Given the description of an element on the screen output the (x, y) to click on. 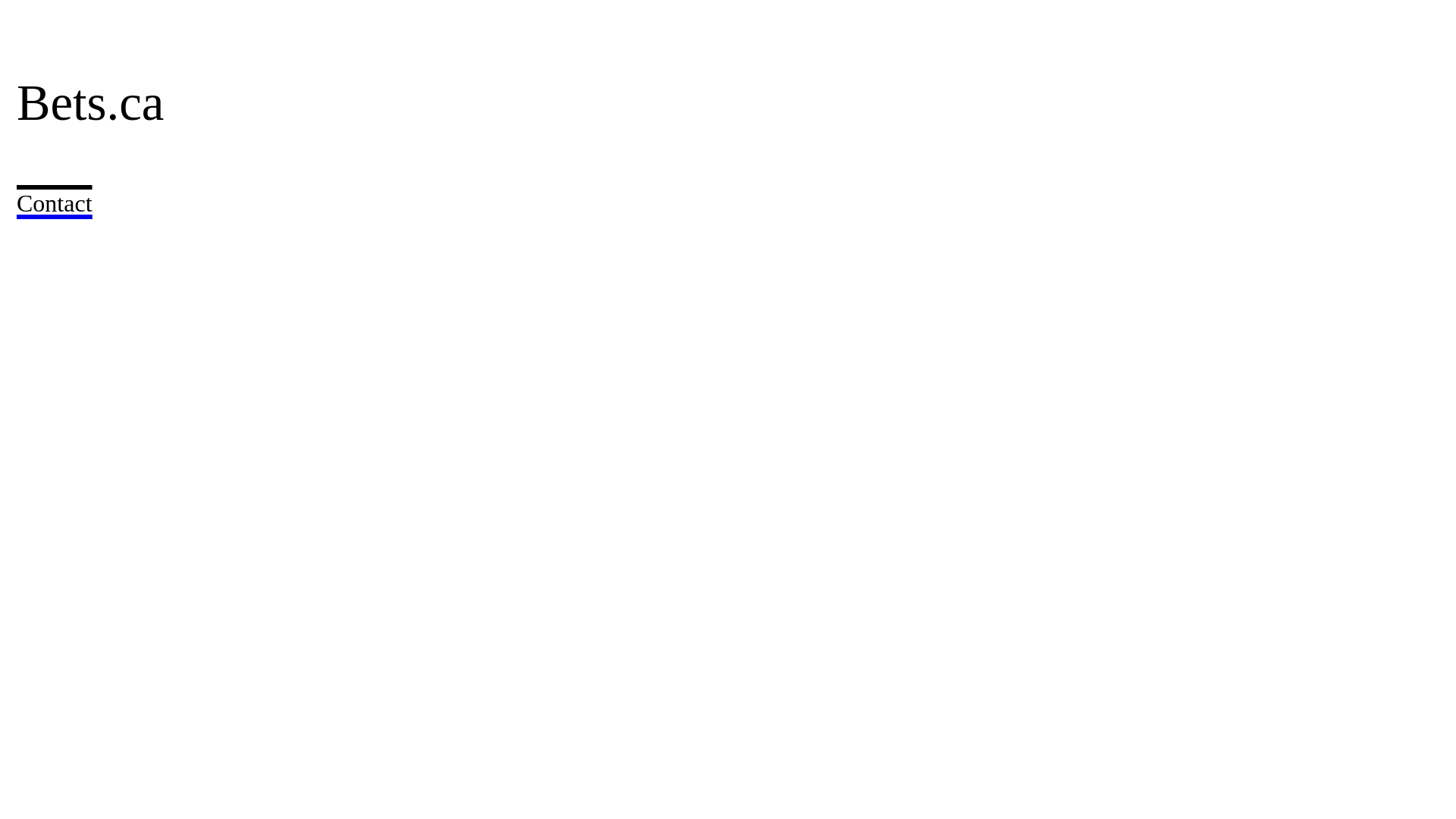
Contact Element type: text (54, 194)
